Given the description of an element on the screen output the (x, y) to click on. 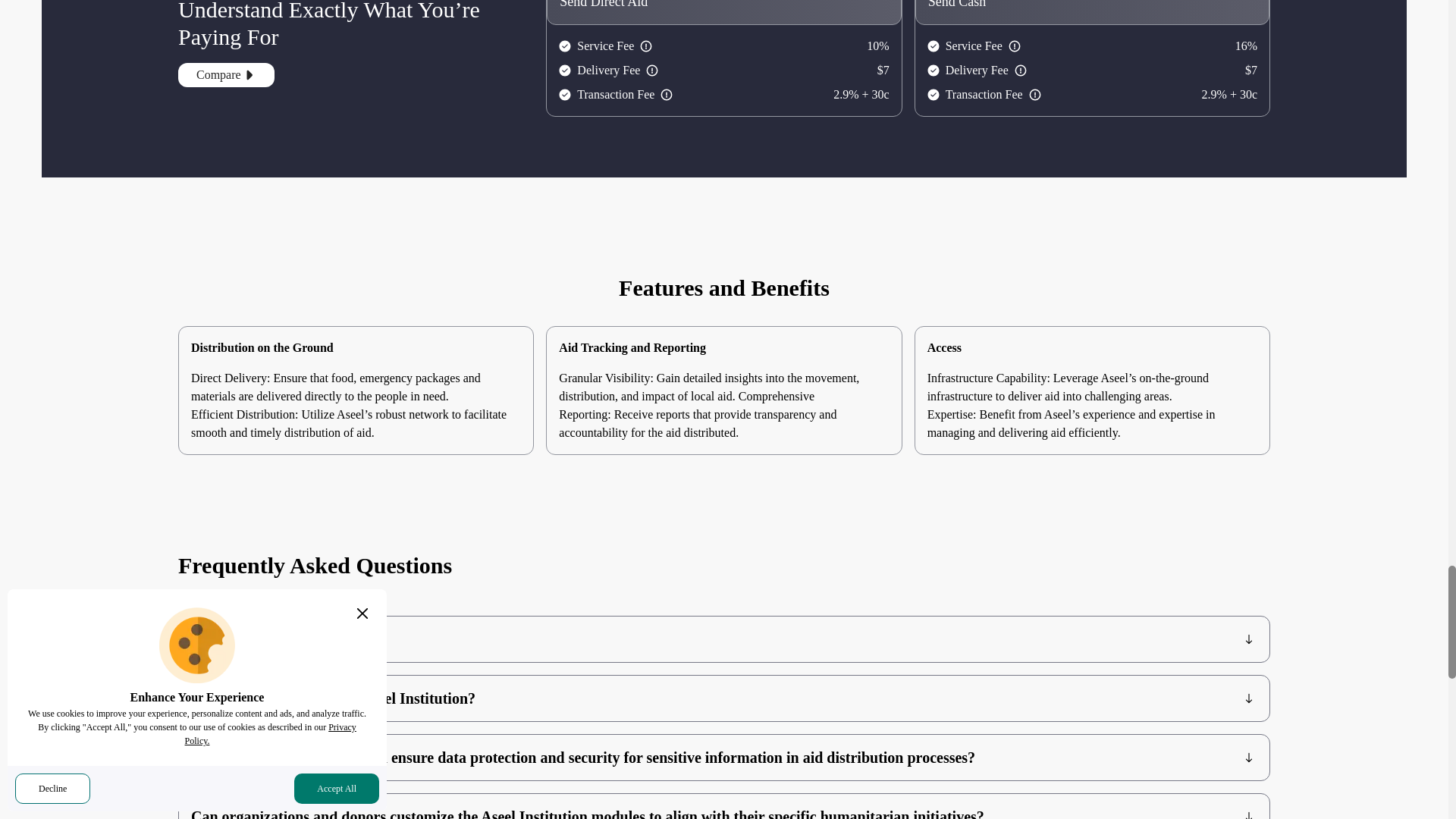
What is Aseel Institution? (724, 638)
What is the mission of the Aseel Institution? (724, 698)
Compare (226, 74)
